Given the description of an element on the screen output the (x, y) to click on. 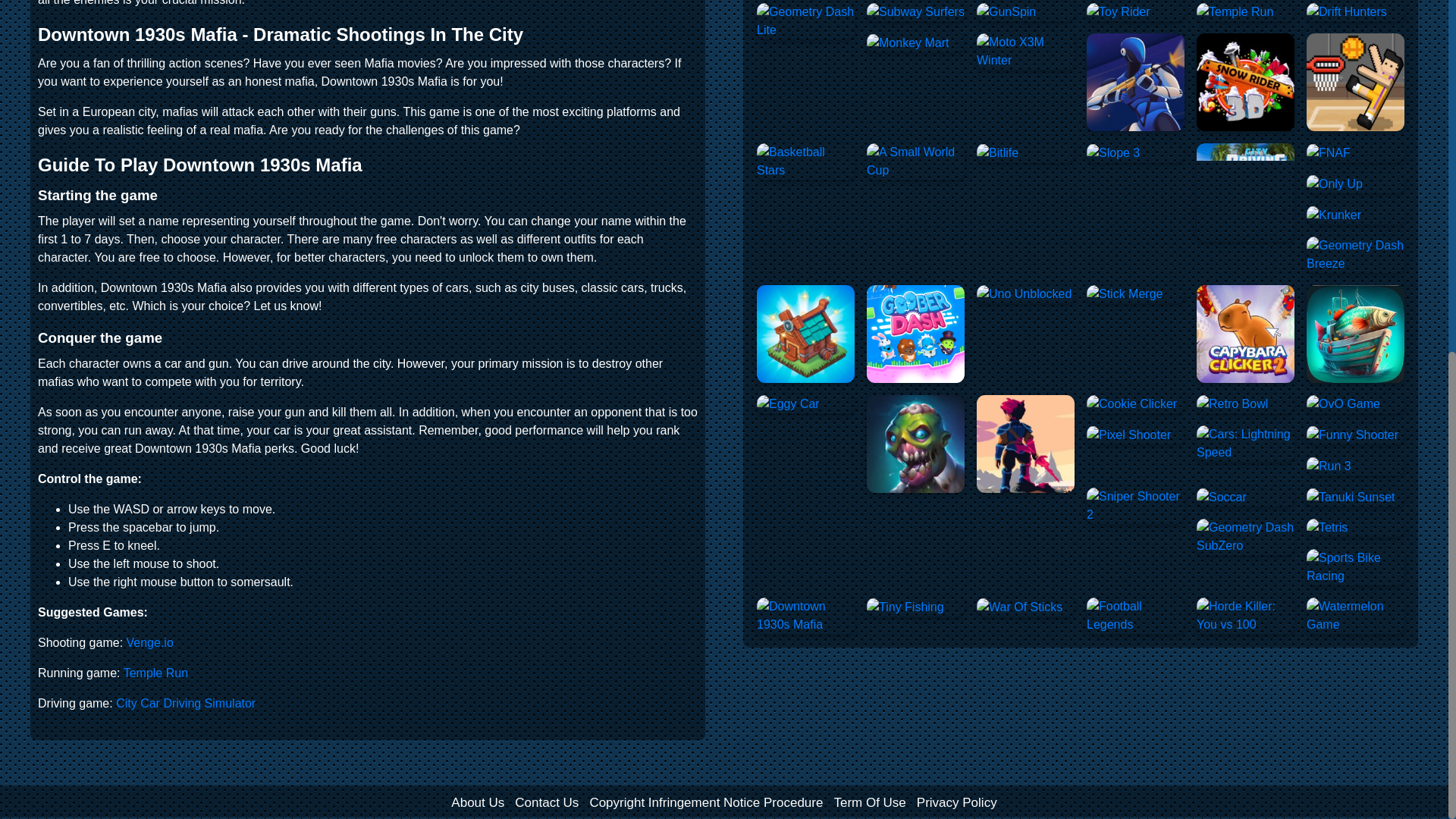
Venge.io (149, 642)
City Car Driving Simulator (186, 703)
Temple Run (155, 672)
